Given the description of an element on the screen output the (x, y) to click on. 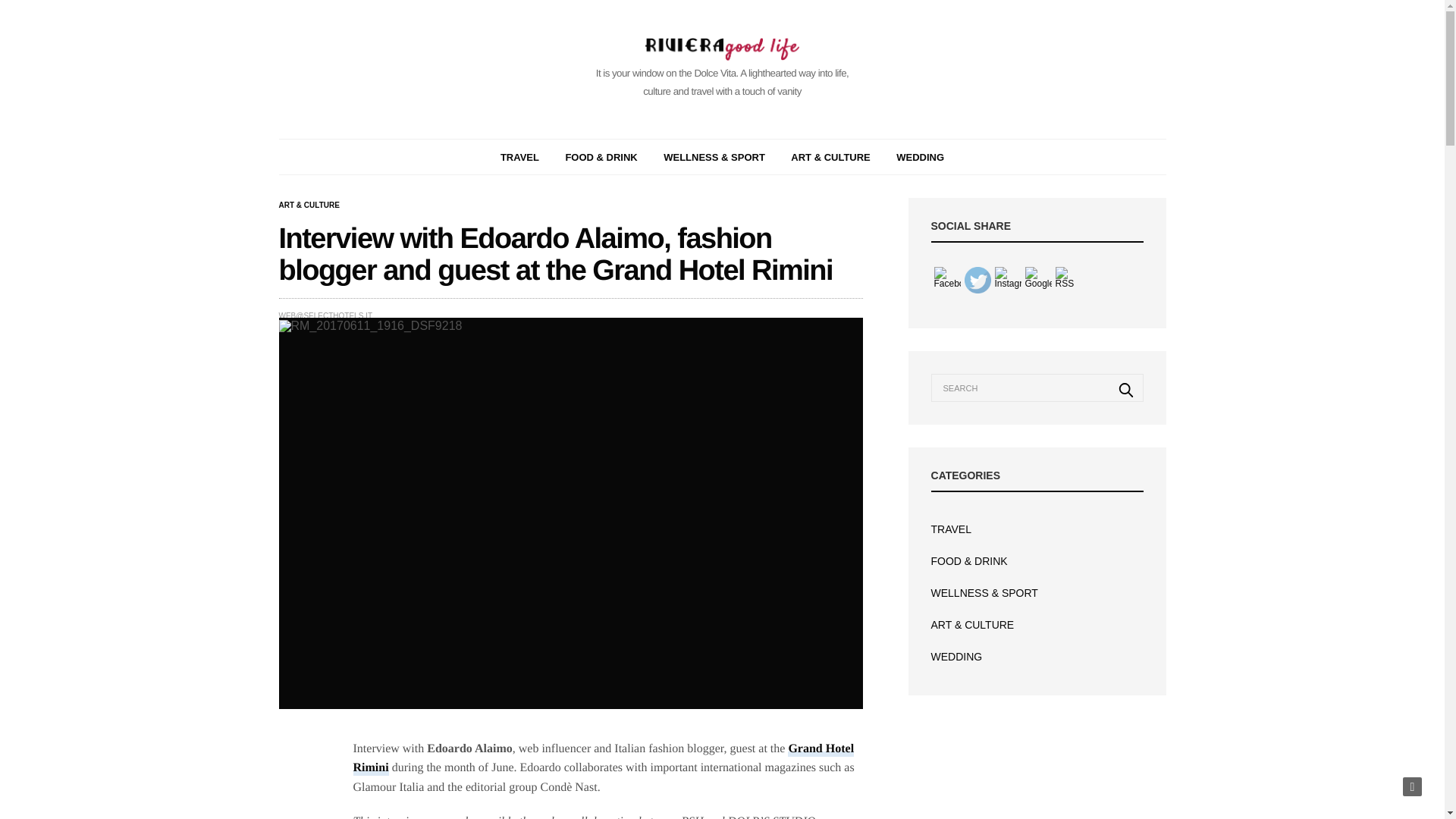
TRAVEL (519, 156)
Twitter (977, 279)
WEDDING (919, 156)
Search (1125, 390)
Facebook (947, 279)
Grand Hotel Rimini (603, 759)
